Given the description of an element on the screen output the (x, y) to click on. 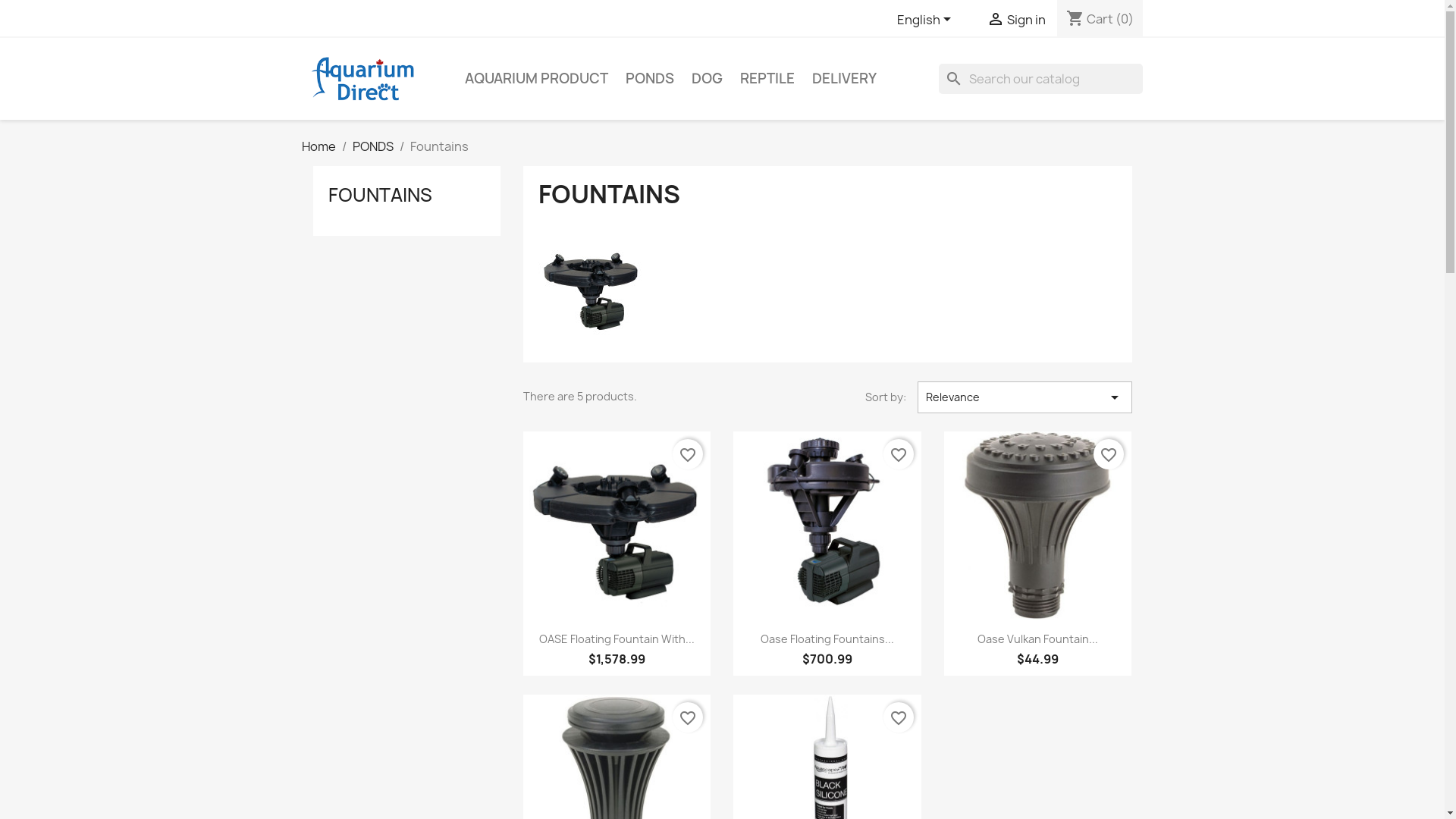
favorite_border Element type: text (898, 717)
favorite_border Element type: text (687, 717)
Home Element type: text (318, 146)
favorite_border Element type: text (898, 454)
DELIVERY Element type: text (843, 78)
PONDS Element type: text (371, 146)
PONDS Element type: text (648, 78)
favorite_border Element type: text (687, 454)
favorite_border Element type: text (1108, 454)
Oase Floating Fountains... Element type: text (827, 638)
OASE Floating Fountain With... Element type: text (616, 638)
REPTILE Element type: text (767, 78)
FOUNTAINS Element type: text (379, 194)
AQUARIUM PRODUCT Element type: text (535, 78)
DOG Element type: text (707, 78)
Oase Vulkan Fountain... Element type: text (1037, 638)
